Given the description of an element on the screen output the (x, y) to click on. 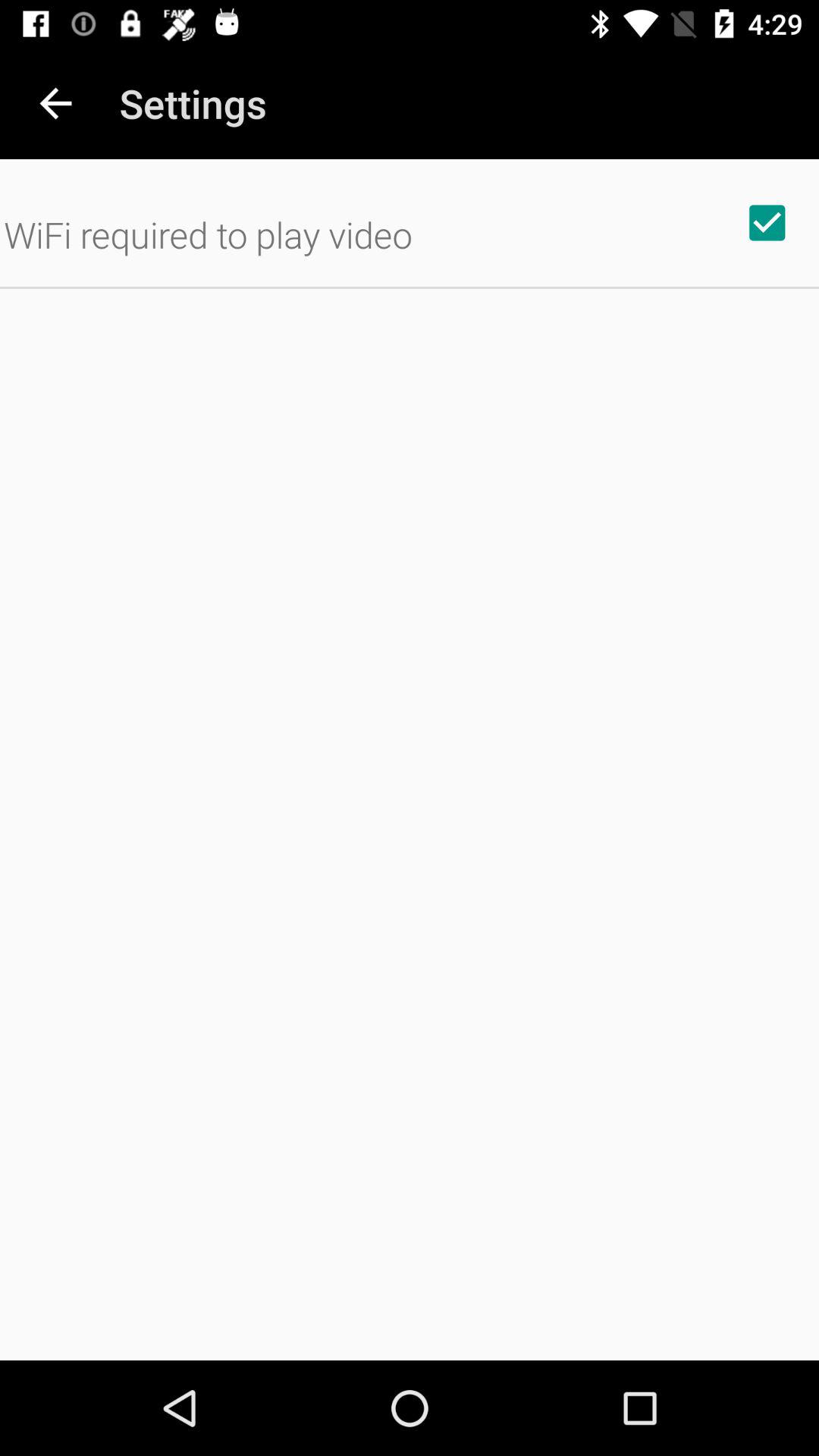
turn off the wifi required to (207, 234)
